Given the description of an element on the screen output the (x, y) to click on. 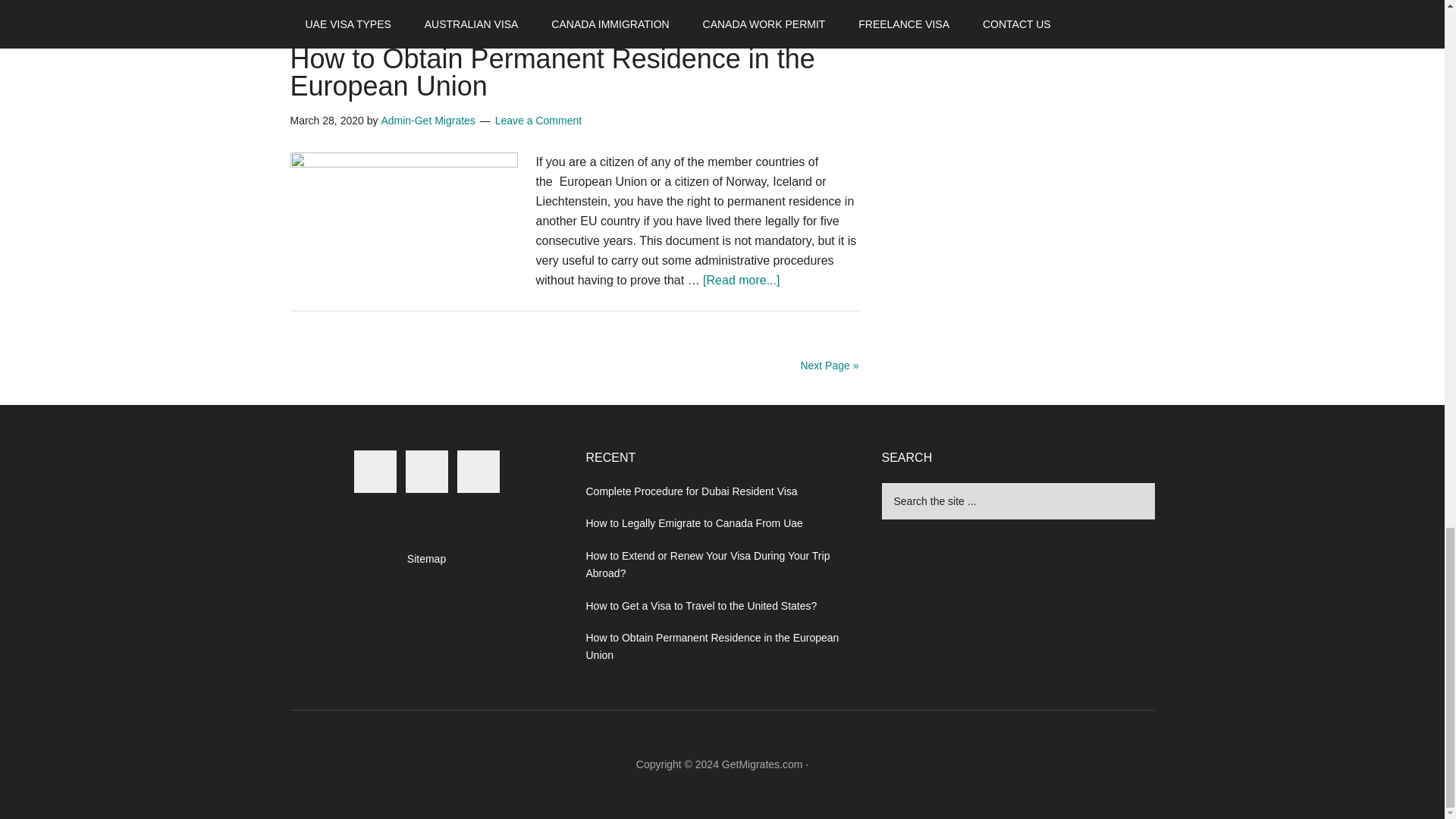
Leave a Comment (537, 120)
Admin-Get Migrates (427, 120)
How to Obtain Permanent Residence in the European Union (551, 72)
